Given the description of an element on the screen output the (x, y) to click on. 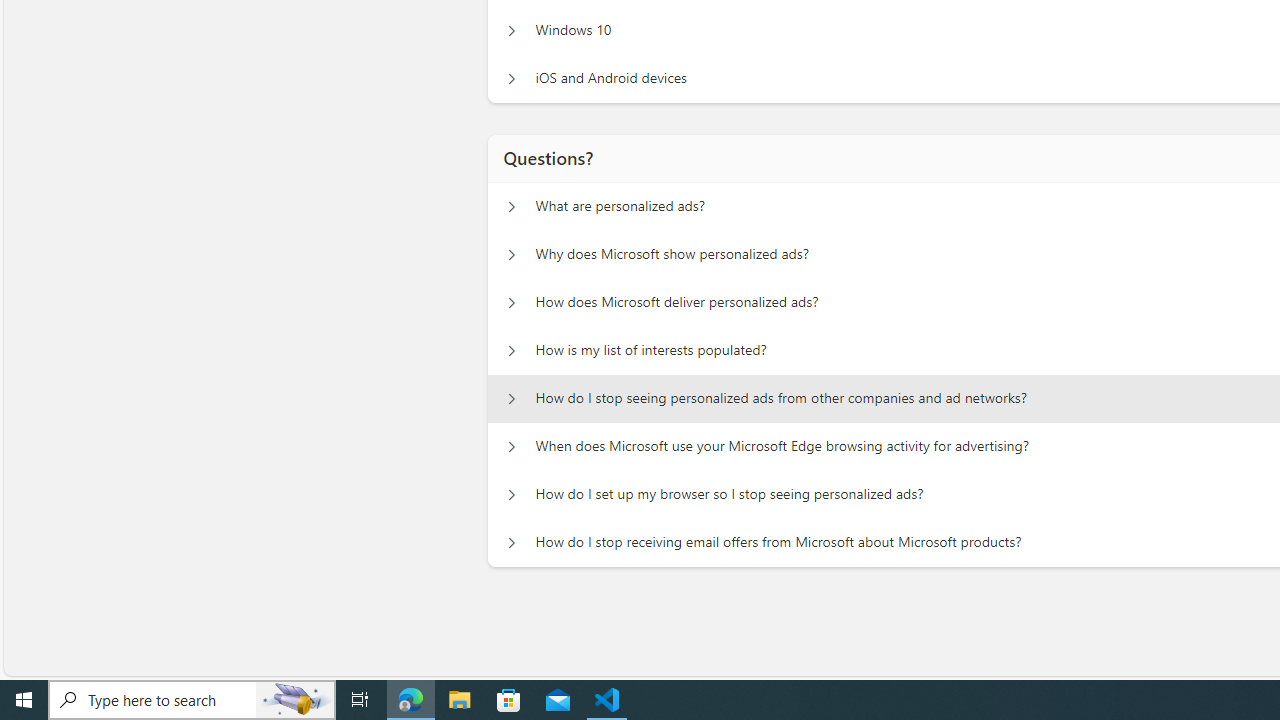
Questions? How is my list of interests populated? (511, 350)
Questions? What are personalized ads? (511, 206)
Manage personalized ads on your device Windows 10 (511, 30)
Questions? Why does Microsoft show personalized ads? (511, 255)
Questions? How does Microsoft deliver personalized ads? (511, 302)
